Given the description of an element on the screen output the (x, y) to click on. 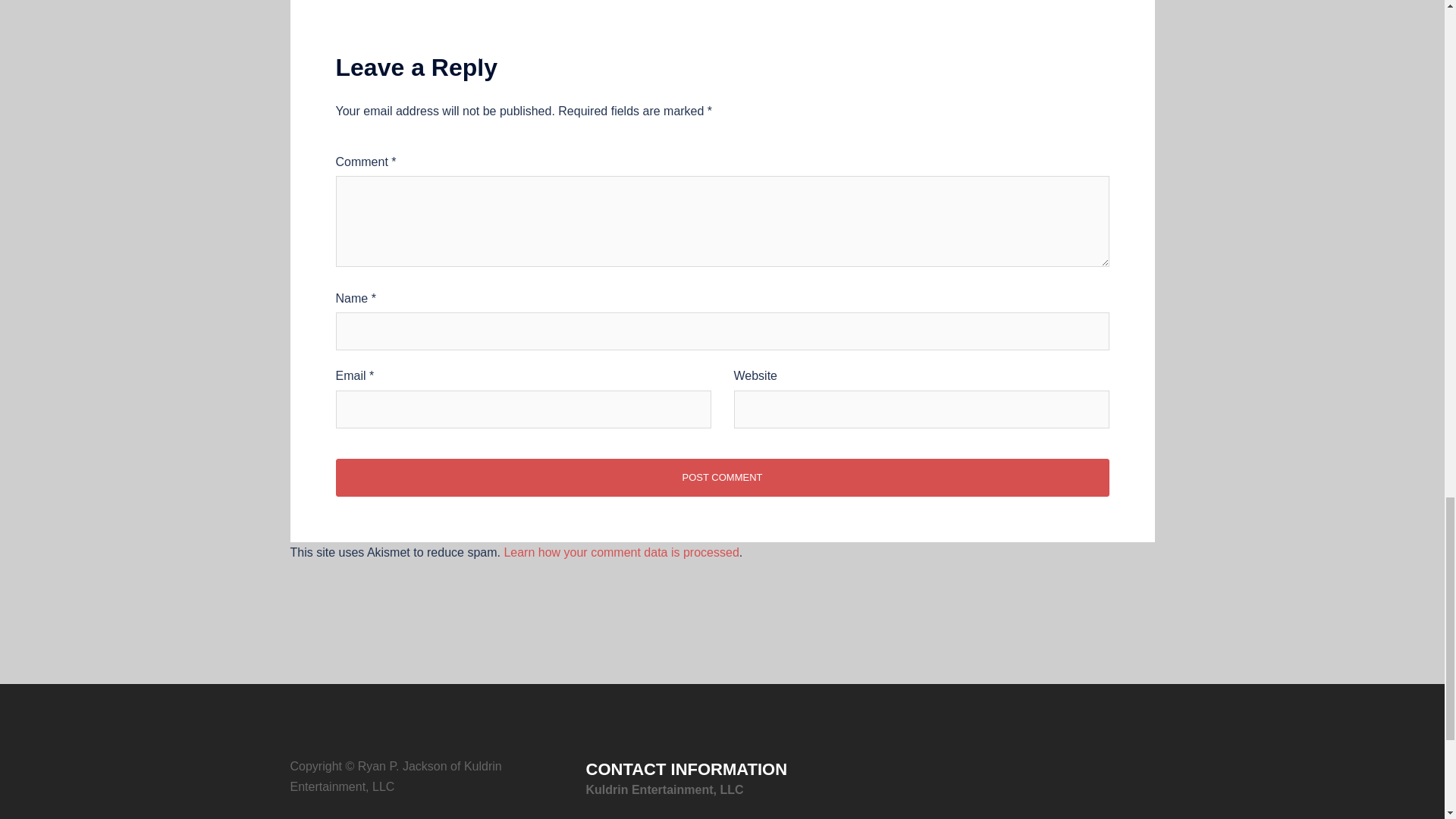
Post Comment (721, 477)
